Given the description of an element on the screen output the (x, y) to click on. 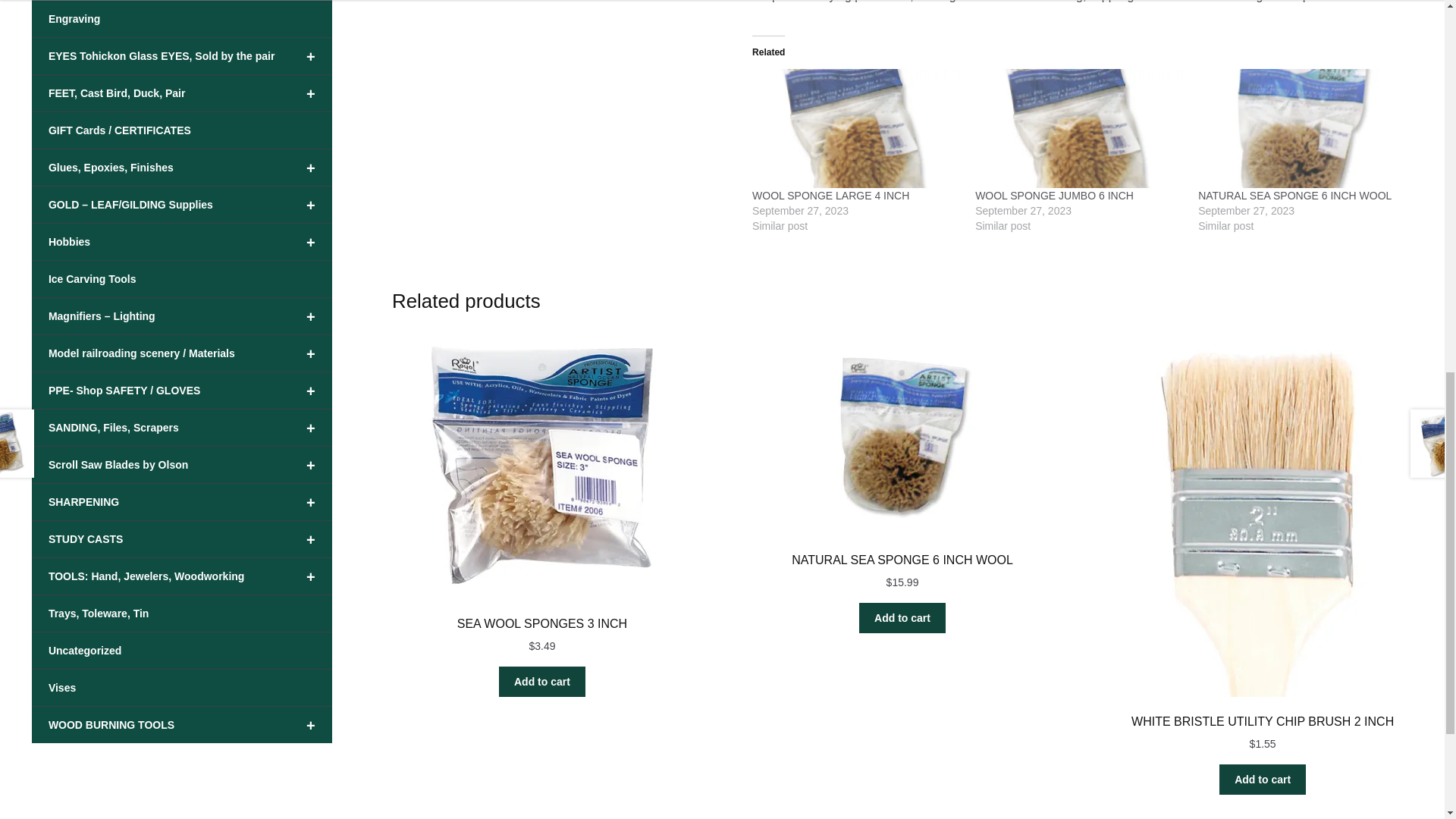
WOOL SPONGE JUMBO 6 INCH (1078, 128)
WOOL SPONGE JUMBO 6 INCH (1054, 195)
Add to cart (542, 681)
NATURAL SEA SPONGE 6 INCH  WOOL (1302, 128)
Add to cart (1263, 779)
Add to cart (901, 617)
WOOL SPONGE LARGE 4 INCH (855, 128)
WOOL SPONGE LARGE 4 INCH (830, 195)
NATURAL SEA SPONGE 6 INCH  WOOL (1294, 195)
NATURAL SEA SPONGE 6 INCH WOOL (1294, 195)
WOOL SPONGE JUMBO 6 INCH (1054, 195)
WOOL SPONGE LARGE 4 INCH (830, 195)
